Given the description of an element on the screen output the (x, y) to click on. 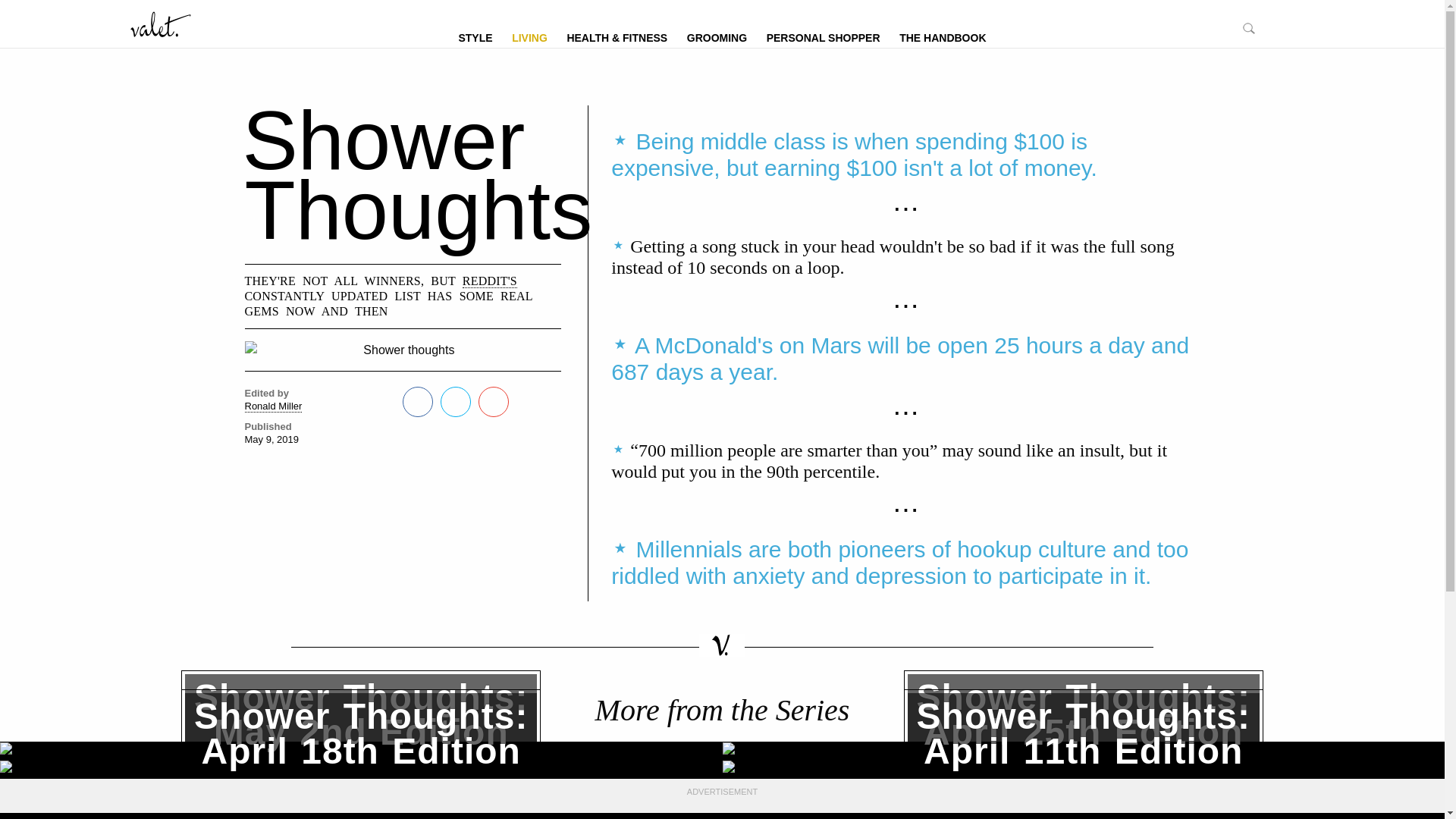
Valet. grooming section (361, 751)
Valet. health and fitness section (717, 35)
PERSONAL SHOPPER (617, 35)
Valet. handbook section (823, 35)
STYLE (361, 769)
REDDIT'S (942, 35)
LIVING (475, 35)
Valet. style section (489, 281)
GROOMING (529, 35)
Valet. personal shopper section (475, 35)
Ronald Miller (717, 35)
Valet. living section (823, 35)
Valet. homepage (272, 406)
